Given the description of an element on the screen output the (x, y) to click on. 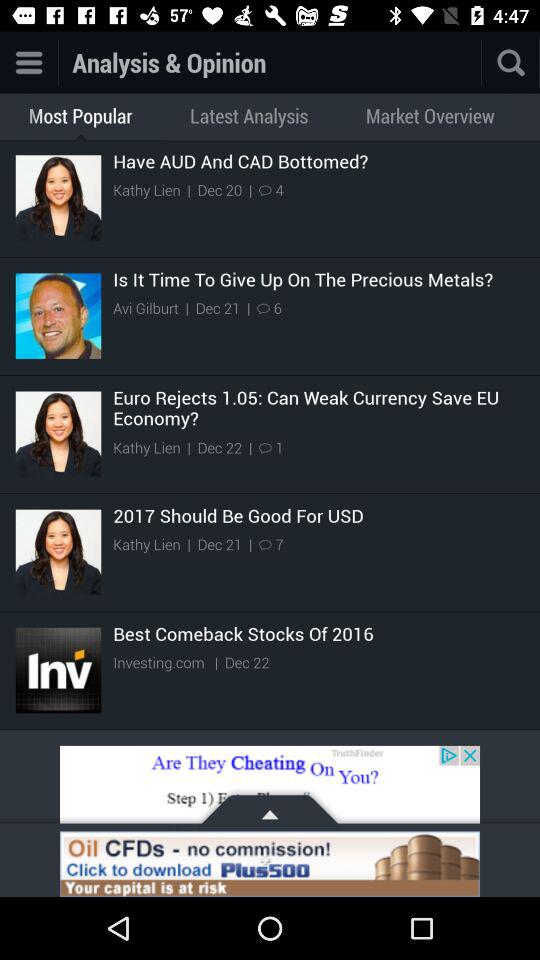
search page (511, 62)
